Given the description of an element on the screen output the (x, y) to click on. 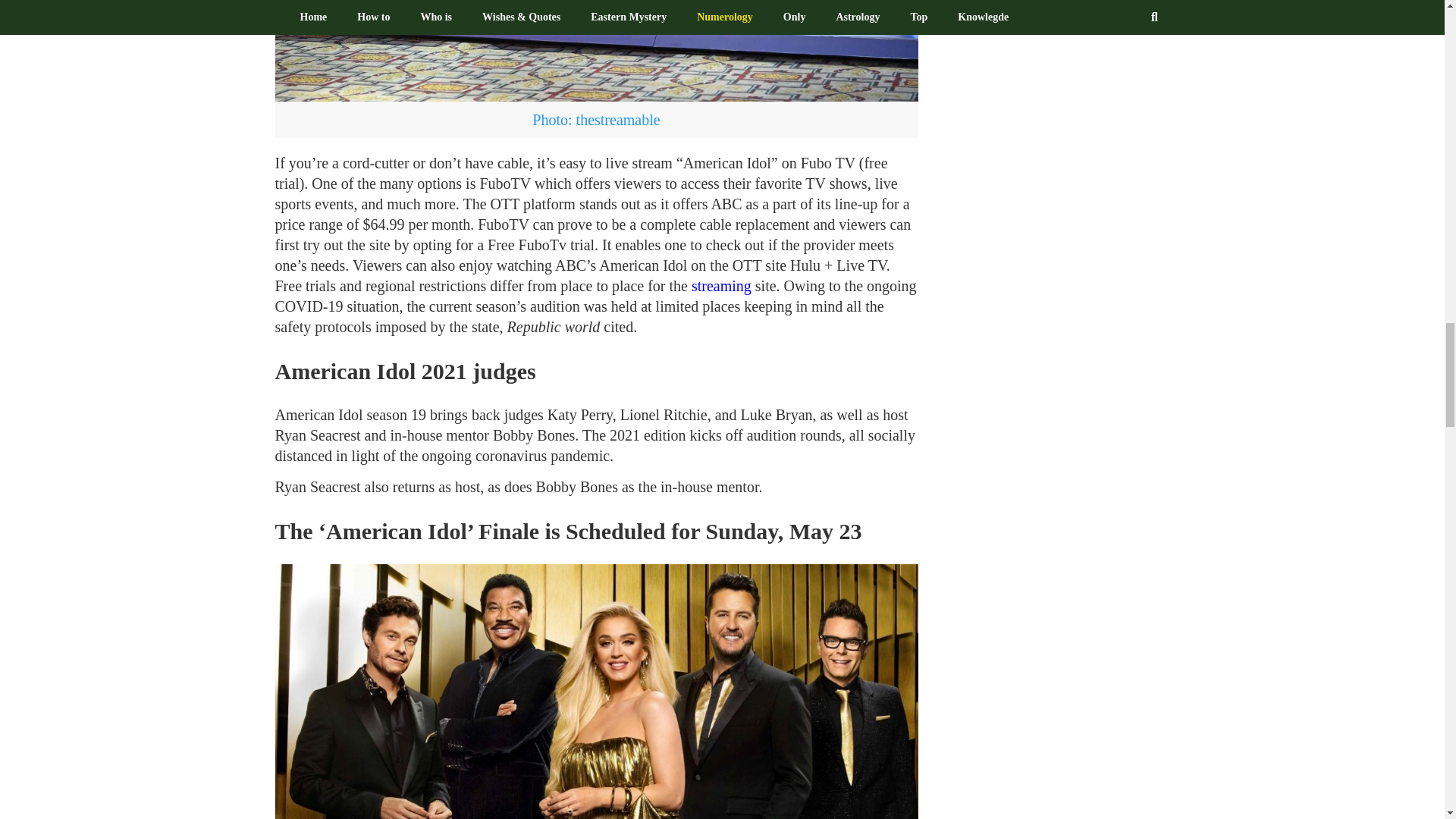
Photo: thestreamable (596, 50)
streaming (723, 285)
